Given the description of an element on the screen output the (x, y) to click on. 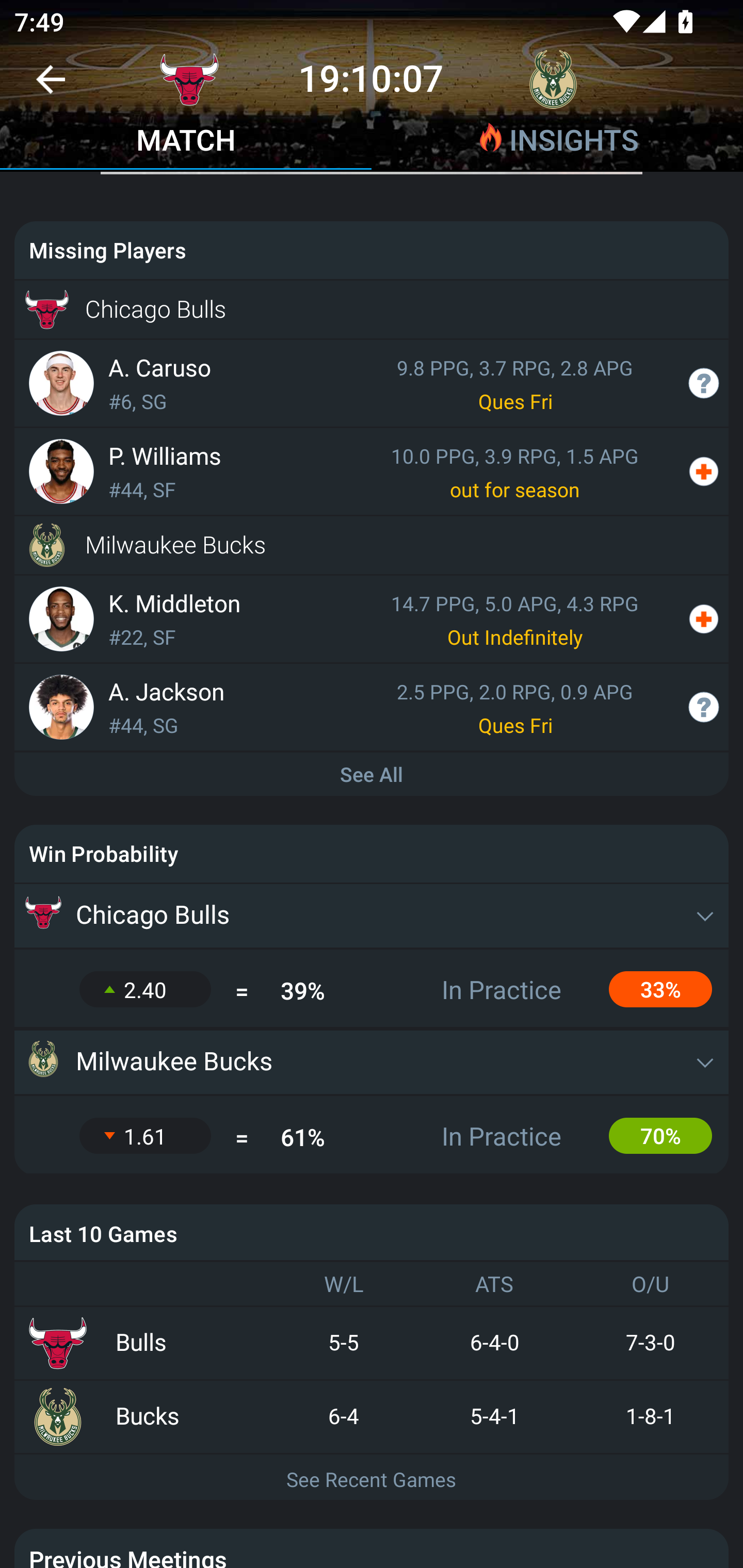
Navigate up (50, 86)
MATCH (185, 142)
INSIGHTS (557, 142)
Missing Players (371, 250)
Chicago Bulls (371, 309)
Milwaukee Bucks (371, 544)
See All (371, 774)
Win Probability (371, 853)
Chicago Bulls (371, 915)
Milwaukee Bucks (371, 1062)
Bulls 5-5 6-4-0 7-3-0 (371, 1343)
Bucks 6-4 5-4-1 1-8-1 (371, 1417)
See Recent Games (371, 1477)
